Given the description of an element on the screen output the (x, y) to click on. 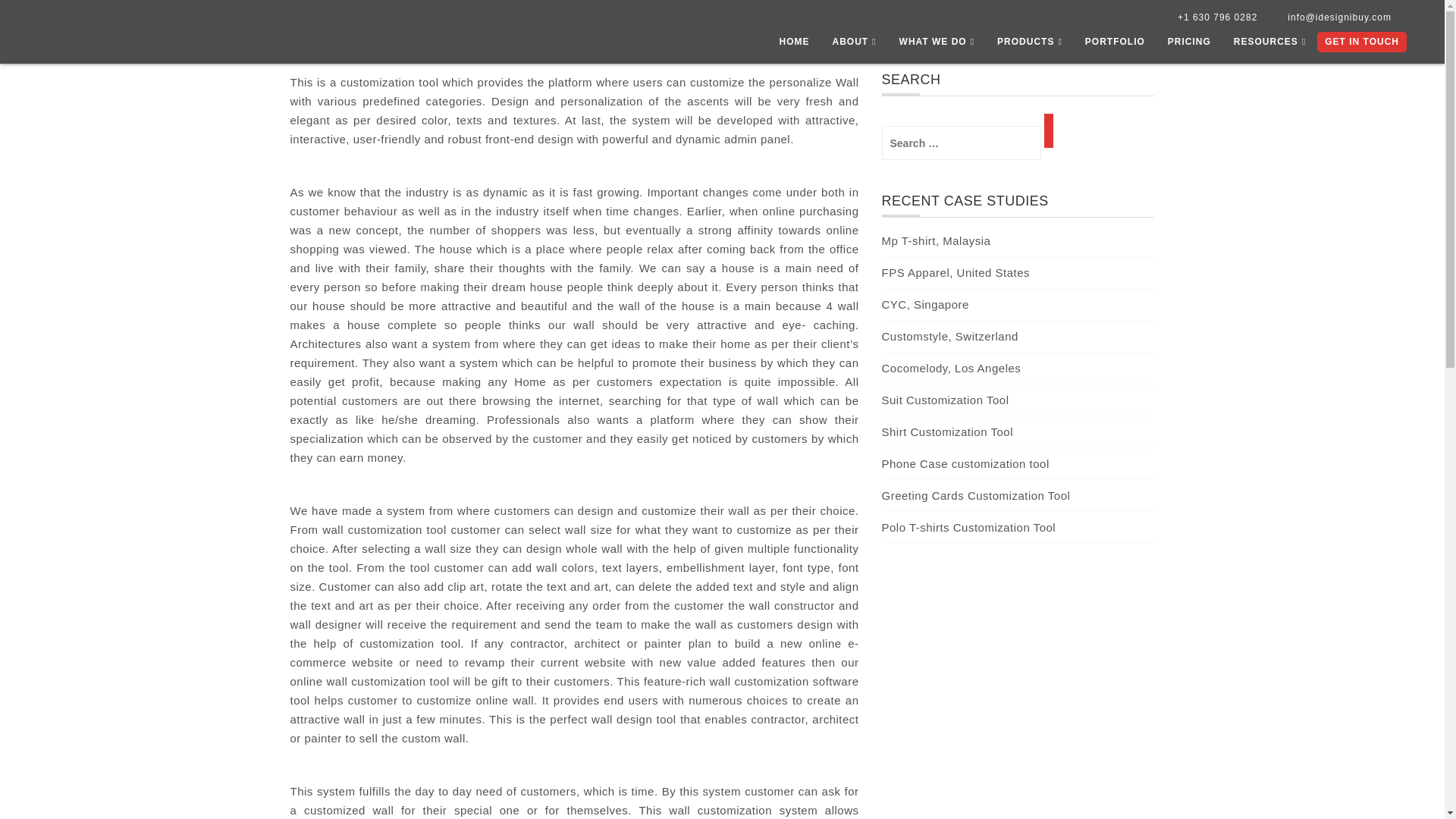
PORTFOLIO (1115, 45)
WHAT WE DO (937, 45)
PRICING (1189, 45)
RESOURCES (1270, 45)
PRODUCTS (1029, 45)
HOME (794, 45)
ABOUT (853, 45)
GET IN TOUCH (1361, 41)
